Given the description of an element on the screen output the (x, y) to click on. 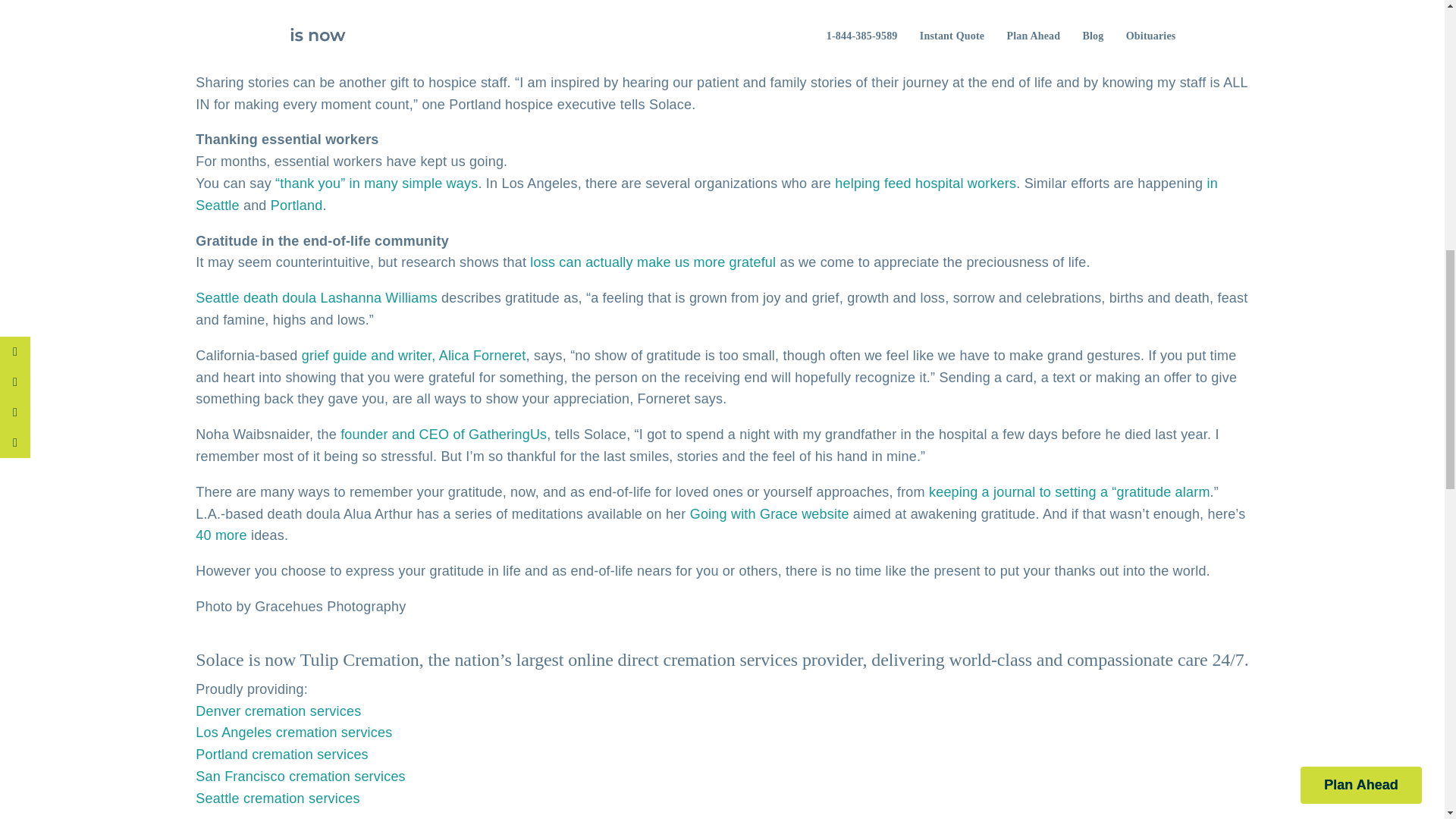
Going with Grace website (769, 513)
Tulip Cremation (359, 659)
founder and CEO of GatheringUs (443, 434)
Portland cremation services (281, 754)
helping feed hospital workers (925, 183)
40 more (220, 534)
grief guide and writer, Alica Forneret (413, 355)
Los Angeles cremation services (293, 732)
Seattle death doula Lashanna Williams (316, 297)
Writing a thank you note (270, 24)
Denver cremation services (278, 711)
cremation services (730, 659)
in Seattle (706, 194)
Our friends at Cake (652, 24)
An obituary (815, 24)
